Given the description of an element on the screen output the (x, y) to click on. 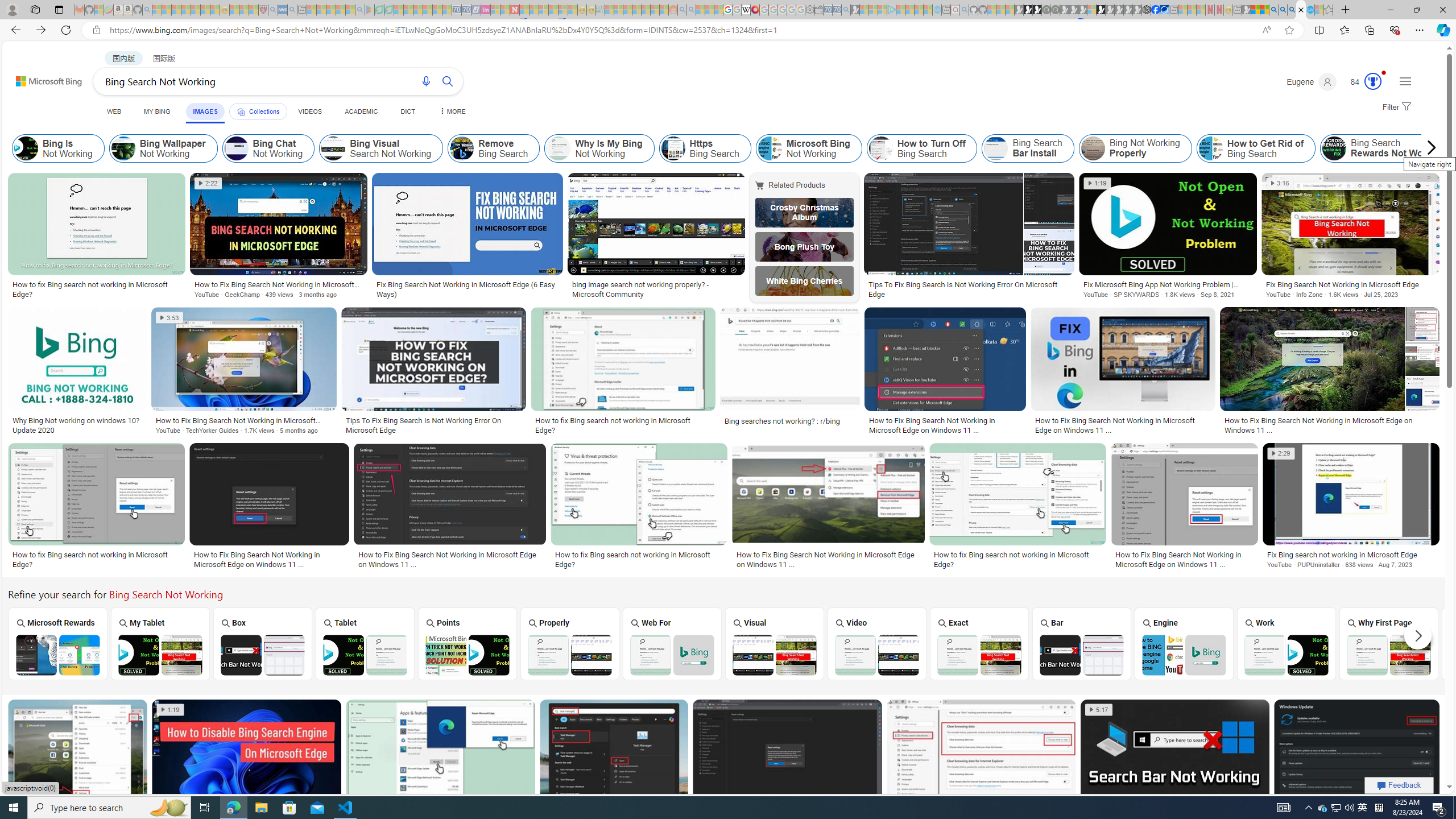
Tablet (364, 643)
IMAGES (205, 112)
Why Bing Not working on windows 10? Update 2020Save (79, 372)
Latest Politics News & Archive | Newsweek.com - Sleeping (514, 9)
2:29 (1280, 453)
Box (262, 643)
Nordace - Cooler Bags (1146, 9)
14 Common Myths Debunked By Scientific Facts - Sleeping (533, 9)
